Given the description of an element on the screen output the (x, y) to click on. 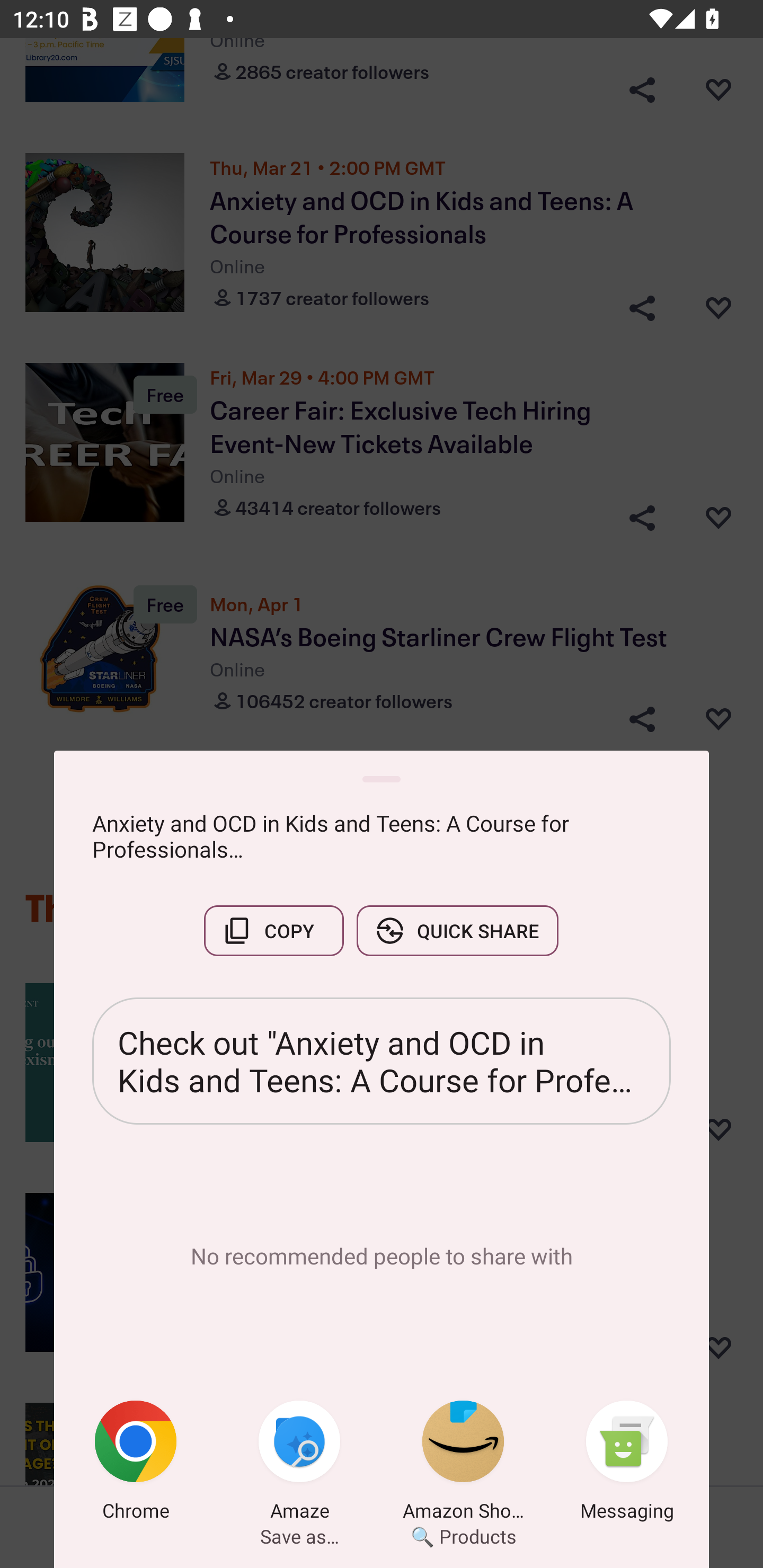
COPY (273, 930)
QUICK SHARE (457, 930)
Chrome (135, 1463)
Amaze Save as… (299, 1463)
Amazon Shopping 🔍 Products (463, 1463)
Messaging (626, 1463)
